Given the description of an element on the screen output the (x, y) to click on. 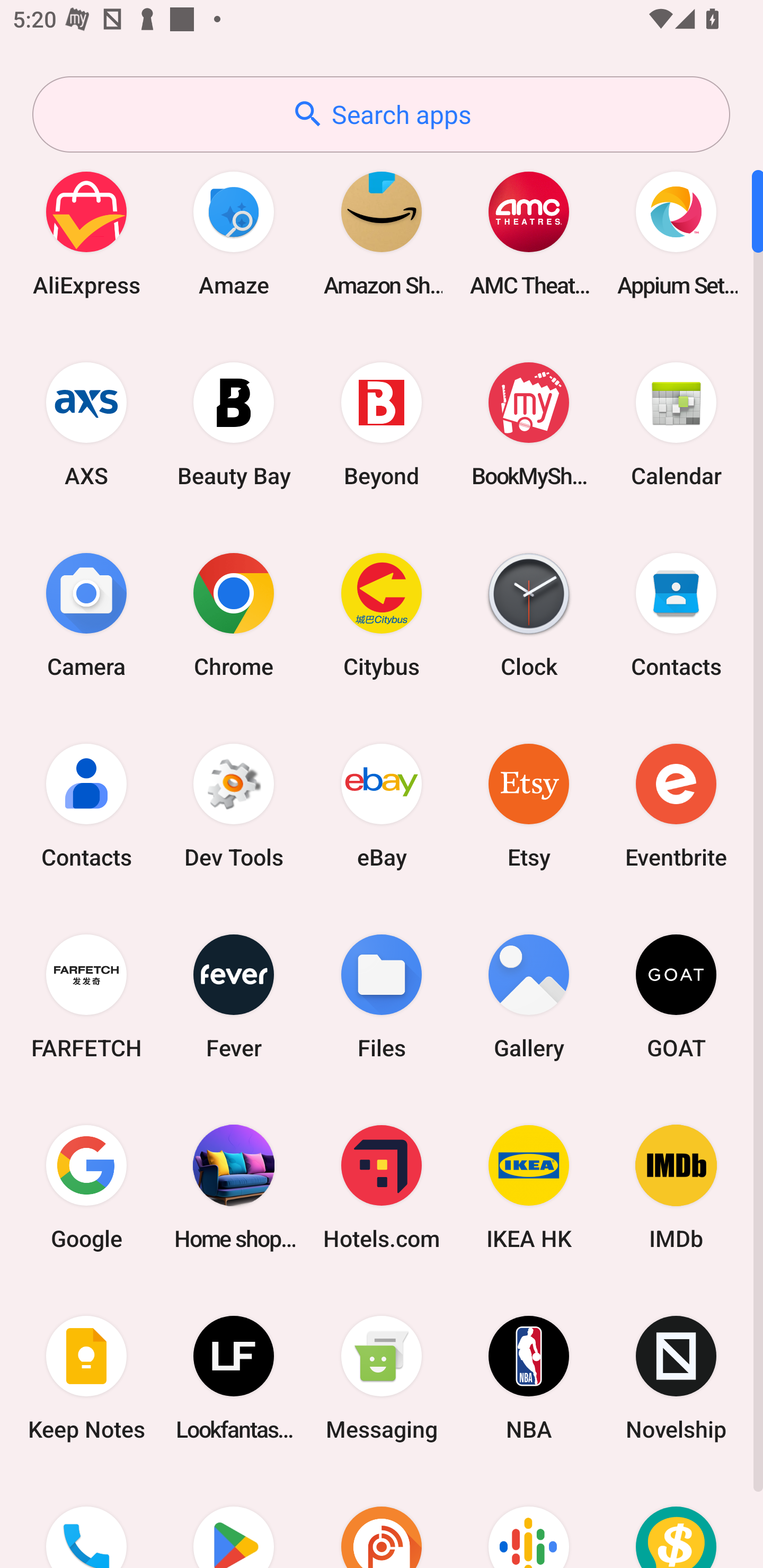
  Search apps (381, 114)
AliExpress (86, 233)
Amaze (233, 233)
Amazon Shopping (381, 233)
AMC Theatres (528, 233)
Appium Settings (676, 233)
AXS (86, 424)
Beauty Bay (233, 424)
Beyond (381, 424)
BookMyShow (528, 424)
Calendar (676, 424)
Camera (86, 614)
Chrome (233, 614)
Citybus (381, 614)
Clock (528, 614)
Contacts (676, 614)
Contacts (86, 805)
Dev Tools (233, 805)
eBay (381, 805)
Etsy (528, 805)
Eventbrite (676, 805)
FARFETCH (86, 996)
Fever (233, 996)
Files (381, 996)
Gallery (528, 996)
GOAT (676, 996)
Google (86, 1186)
Home shopping (233, 1186)
Hotels.com (381, 1186)
IKEA HK (528, 1186)
IMDb (676, 1186)
Keep Notes (86, 1377)
Lookfantastic (233, 1377)
Messaging (381, 1377)
NBA (528, 1377)
Novelship (676, 1377)
Phone (86, 1520)
Play Store (233, 1520)
Podcast Addict (381, 1520)
Podcasts (528, 1520)
Price (676, 1520)
